Given the description of an element on the screen output the (x, y) to click on. 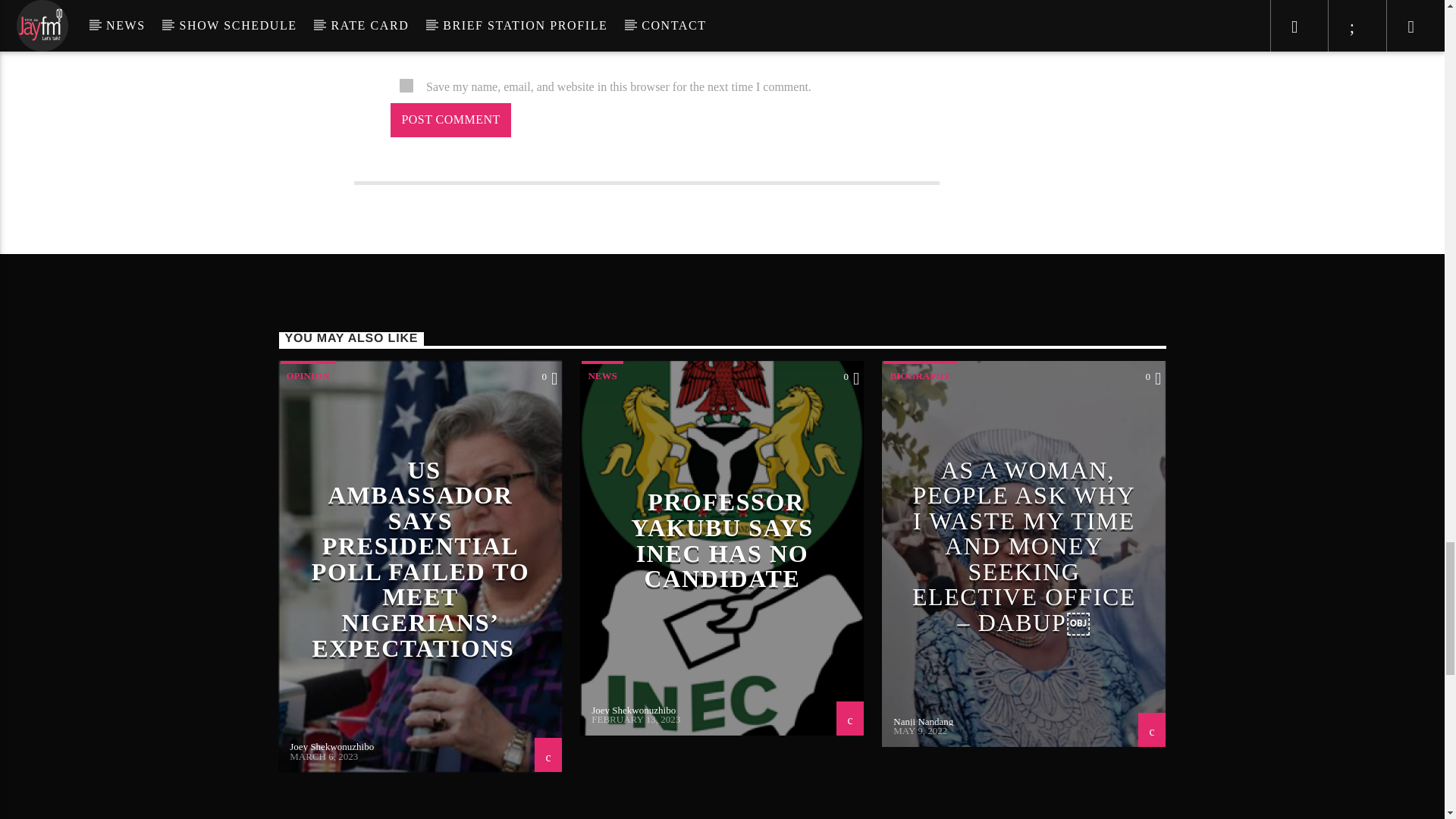
Posts by Nanji Nandang (923, 721)
Posts by Joey Shekwonuzhibo (331, 746)
Post Comment (450, 120)
Posts by Joey Shekwonuzhibo (633, 708)
